Given the description of an element on the screen output the (x, y) to click on. 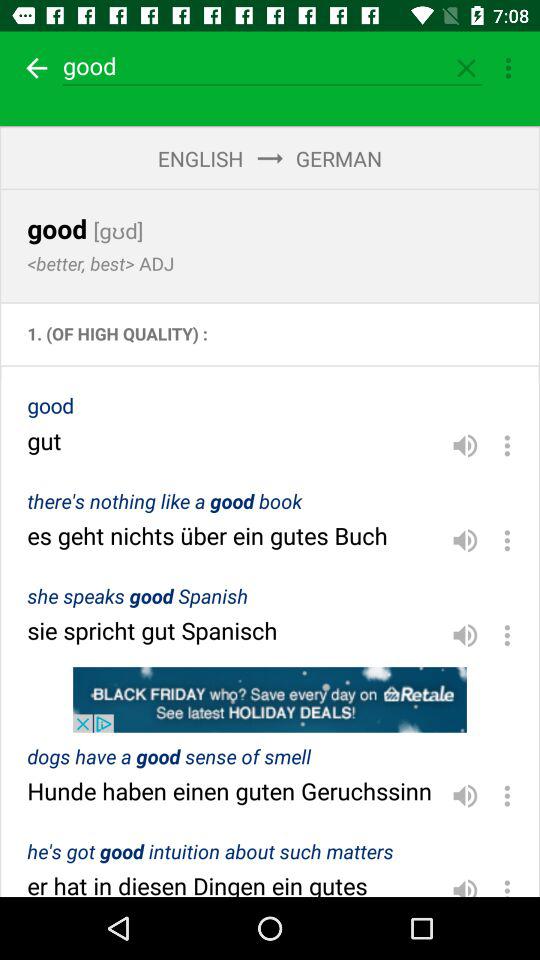
pick another option (507, 540)
